Given the description of an element on the screen output the (x, y) to click on. 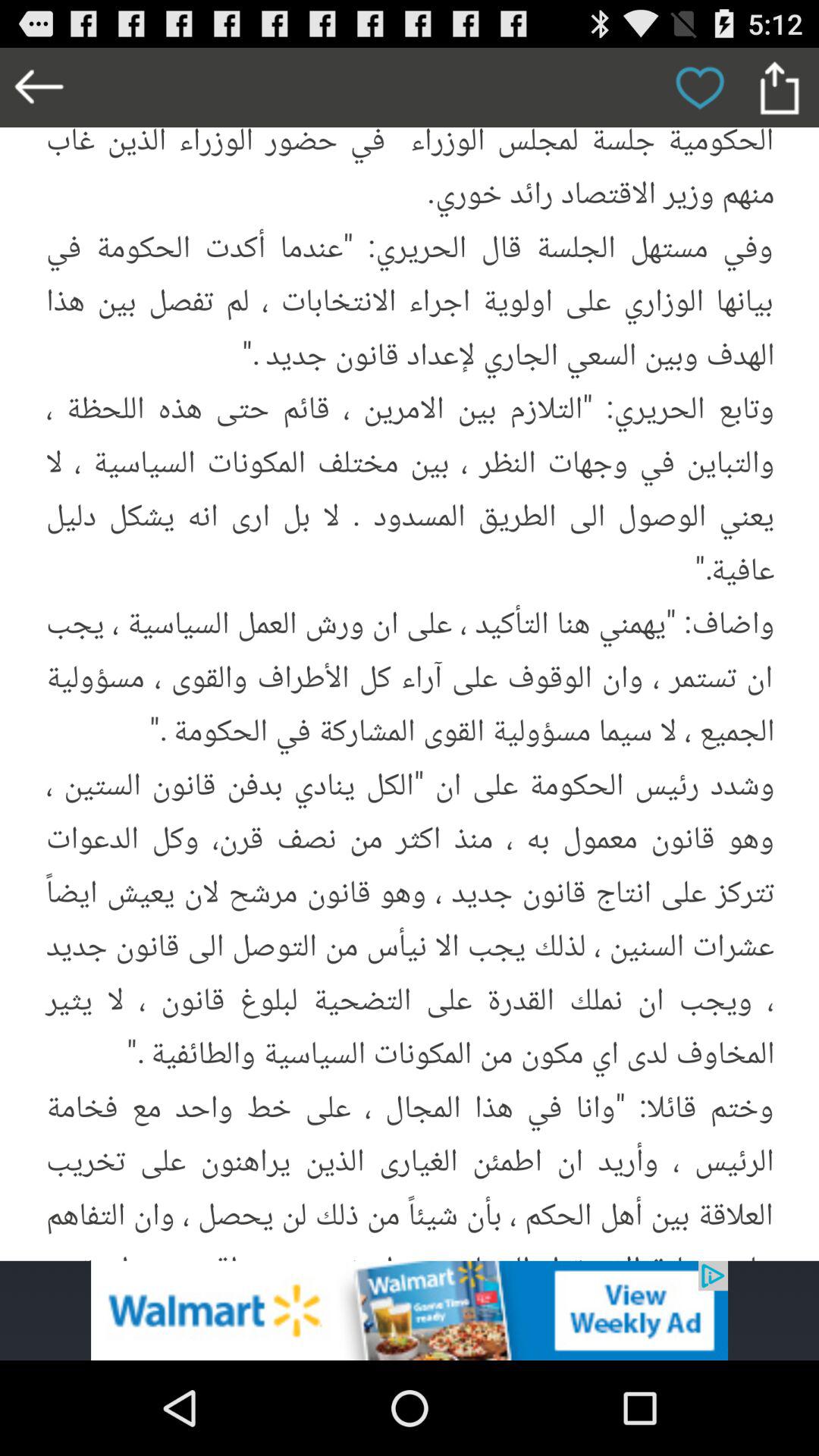
view the advertisement (409, 1310)
